Given the description of an element on the screen output the (x, y) to click on. 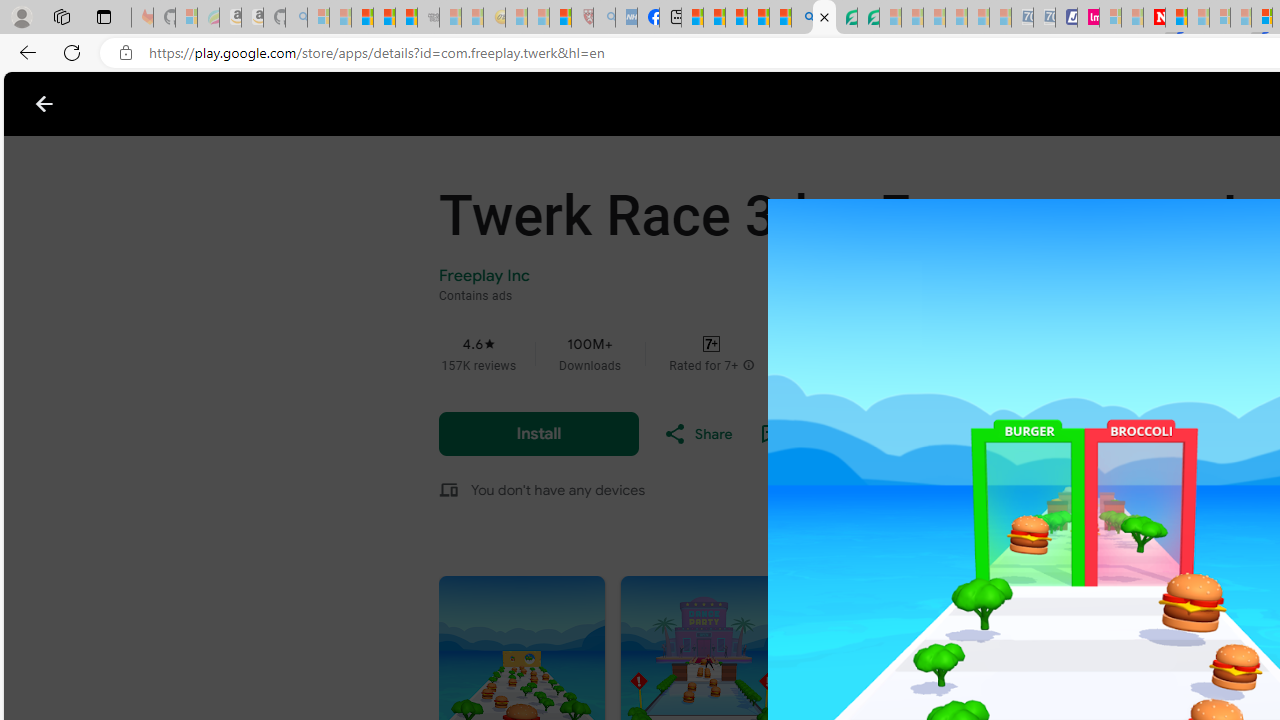
Close screenshot viewer (43, 103)
Install (538, 433)
Share (698, 433)
Freeplay Inc (485, 275)
